Given the description of an element on the screen output the (x, y) to click on. 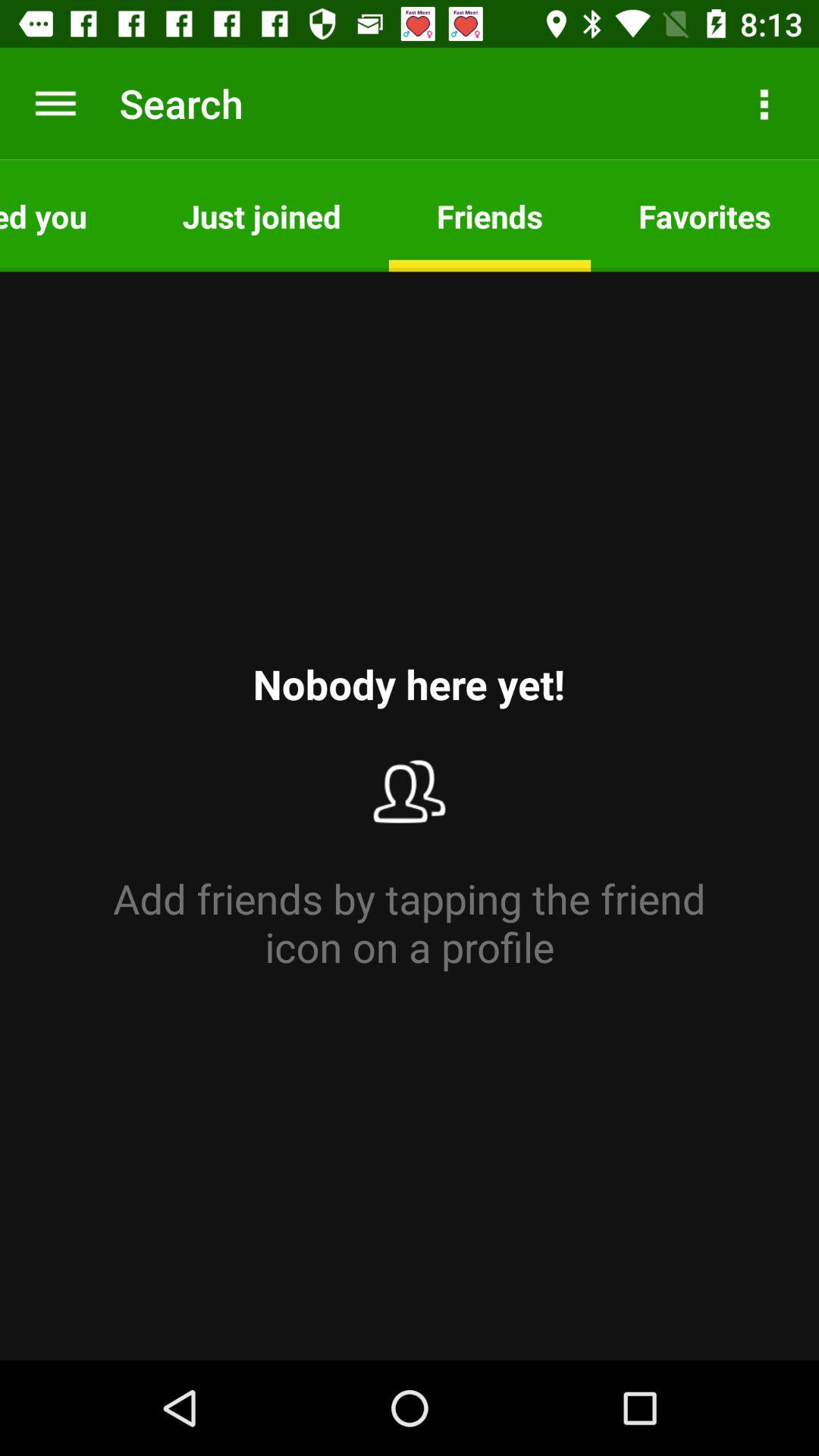
turn on the just joined (261, 215)
